Given the description of an element on the screen output the (x, y) to click on. 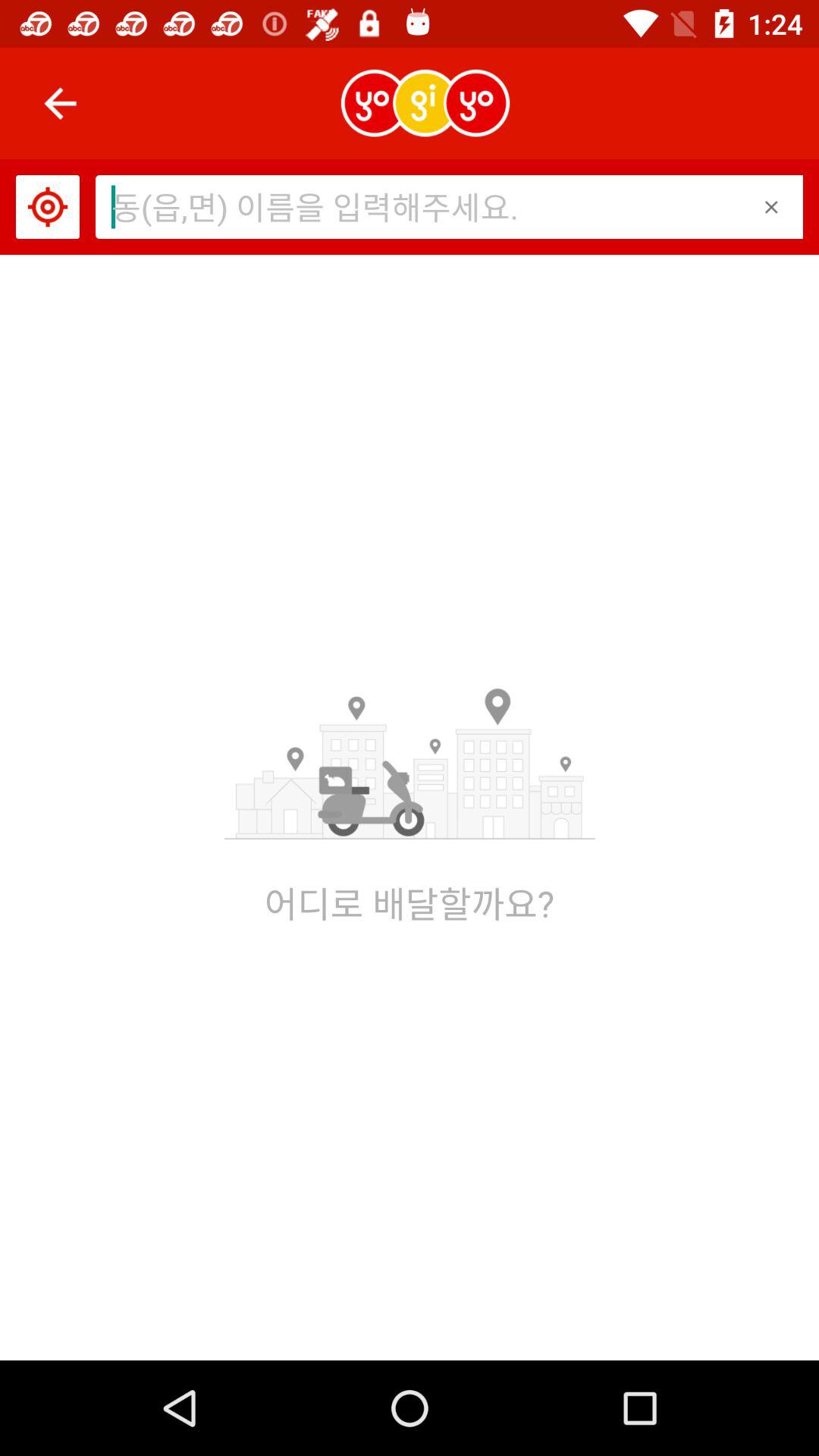
click the item at the top right corner (771, 206)
